Given the description of an element on the screen output the (x, y) to click on. 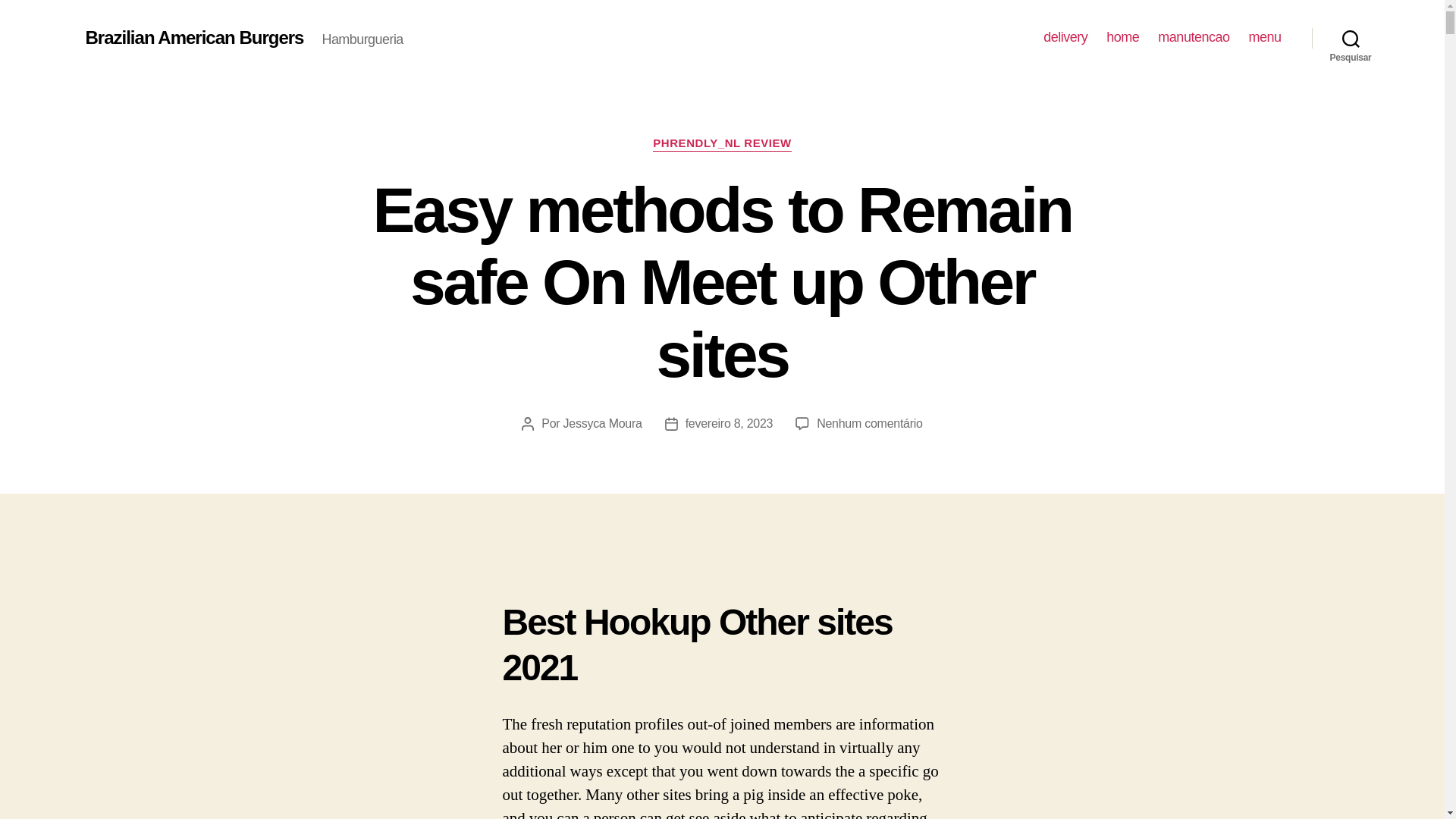
Jessyca Moura (602, 422)
menu (1264, 37)
Brazilian American Burgers (193, 37)
home (1122, 37)
Pesquisar (1350, 37)
delivery (1065, 37)
manutencao (1192, 37)
fevereiro 8, 2023 (729, 422)
